Given the description of an element on the screen output the (x, y) to click on. 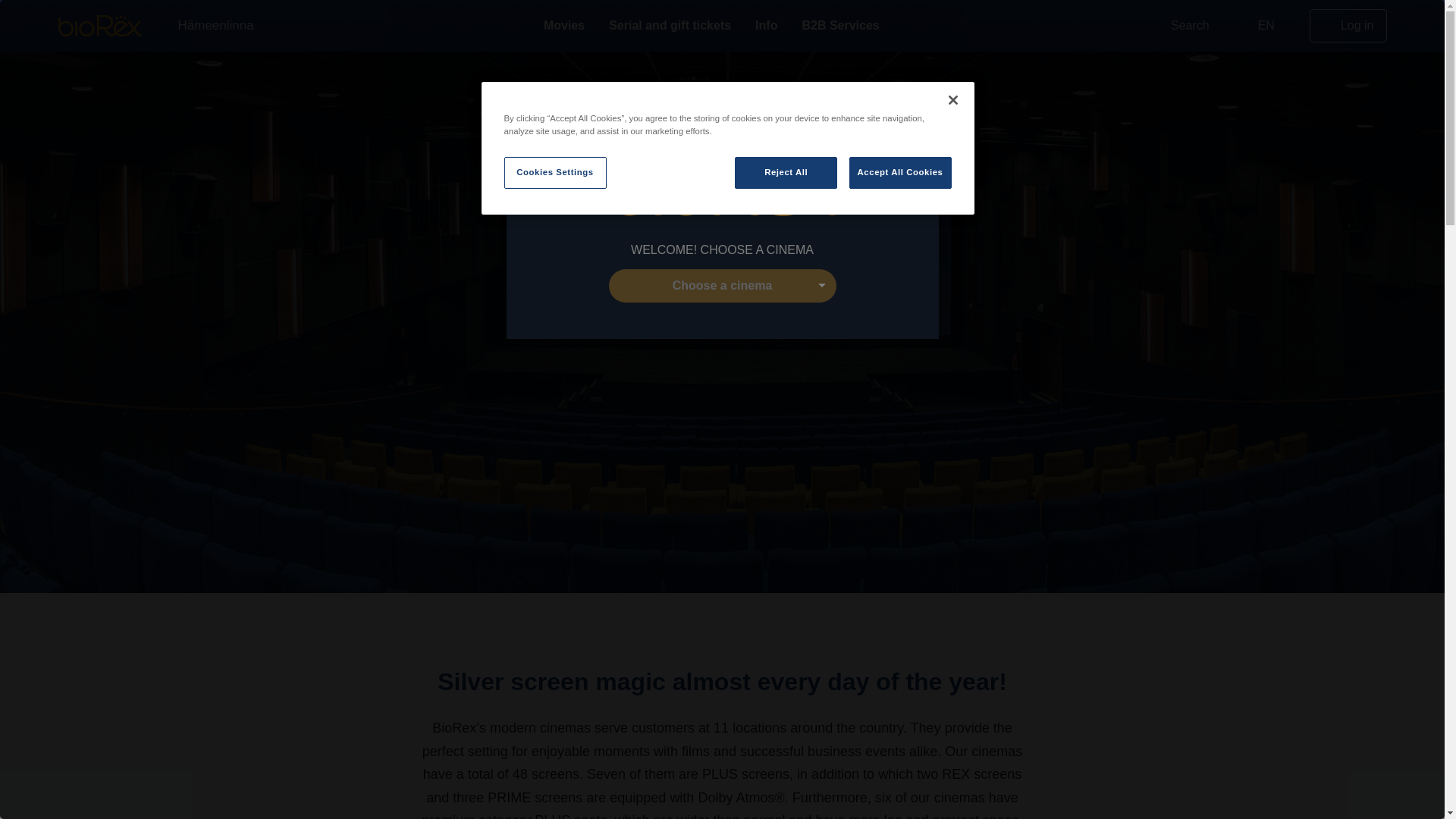
B2B Services (840, 25)
Serial and gift tickets (669, 25)
Log in (1347, 25)
BioRex Cinemas (99, 25)
Search (1180, 25)
EN (1265, 25)
Movies (563, 25)
Info (765, 25)
